Given the description of an element on the screen output the (x, y) to click on. 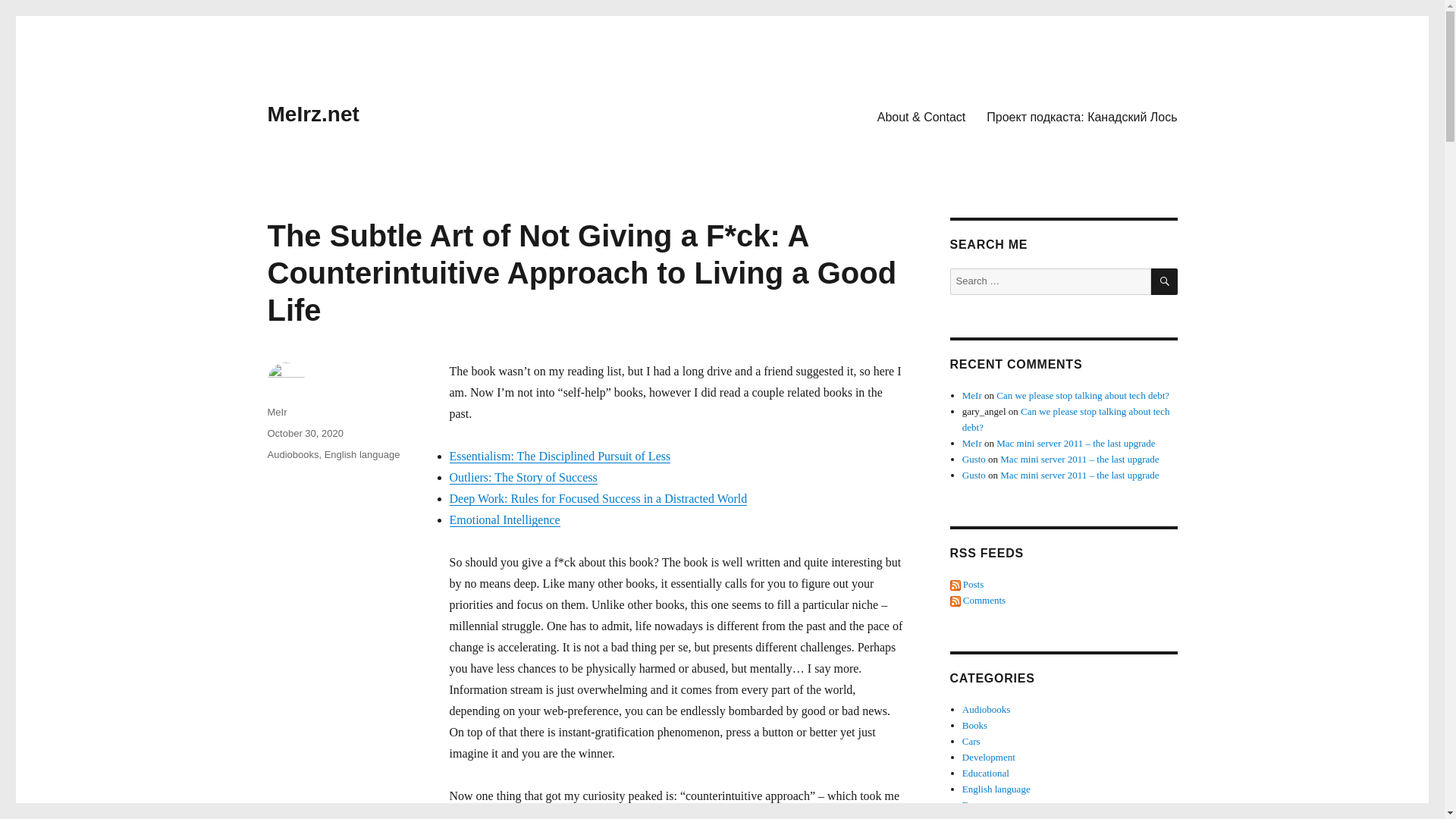
Can we please stop talking about tech debt? (1082, 395)
MeIrz.net (312, 114)
English language (996, 788)
Gusto (973, 459)
Audiobooks (986, 708)
Essentialism: The Disciplined Pursuit of Less (558, 455)
Outliers: The Story of Success (522, 477)
Hardware (981, 816)
Books (974, 725)
MeIr (971, 395)
Comments (977, 600)
Audiobooks (292, 454)
Cars (970, 740)
Development (988, 756)
Posts (966, 583)
